Given the description of an element on the screen output the (x, y) to click on. 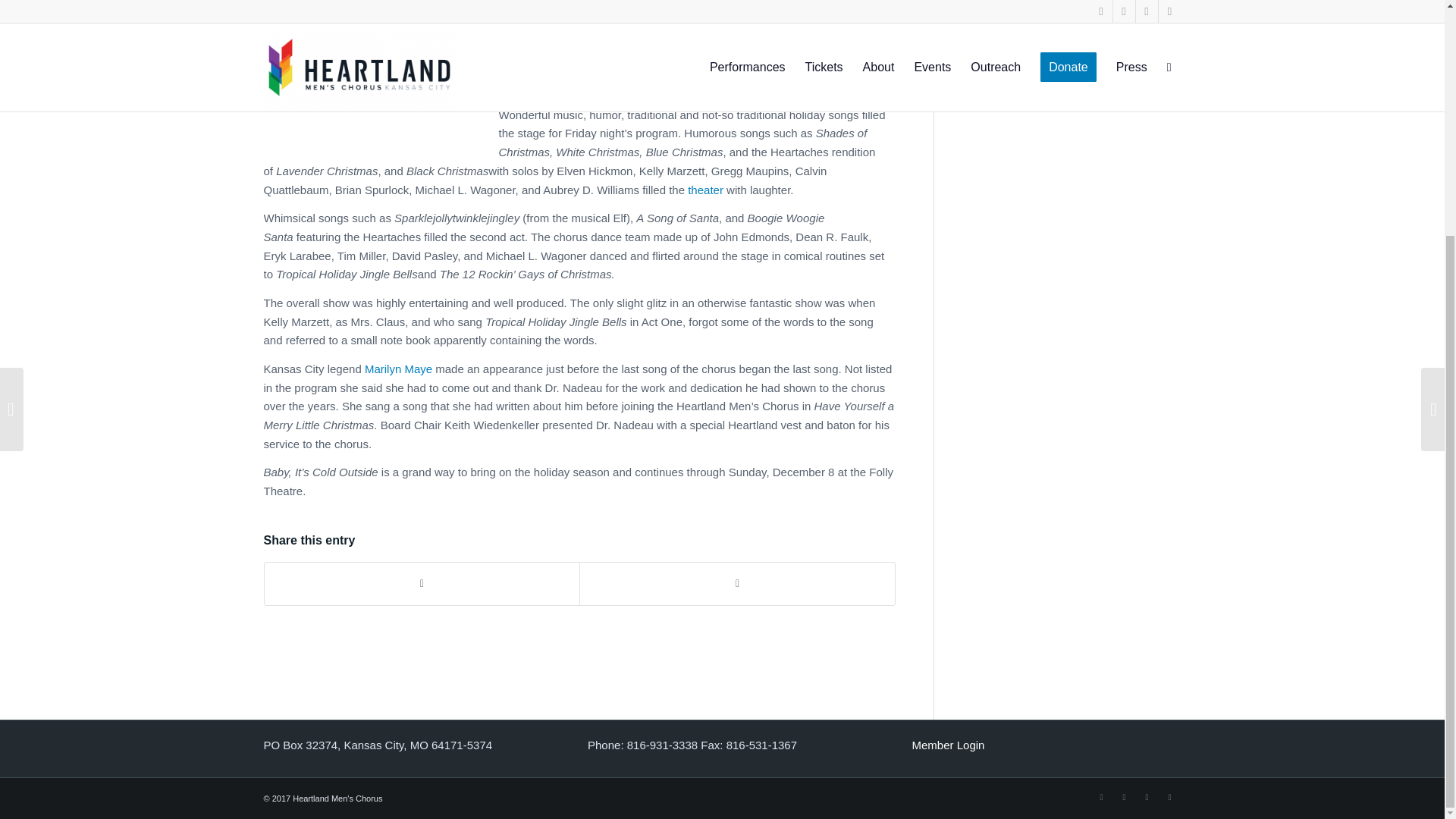
Marilyn Maye (398, 368)
theater (705, 189)
Instagram (1169, 796)
Facebook (1101, 796)
Youtube (1146, 796)
Twitter (1124, 796)
